Given the description of an element on the screen output the (x, y) to click on. 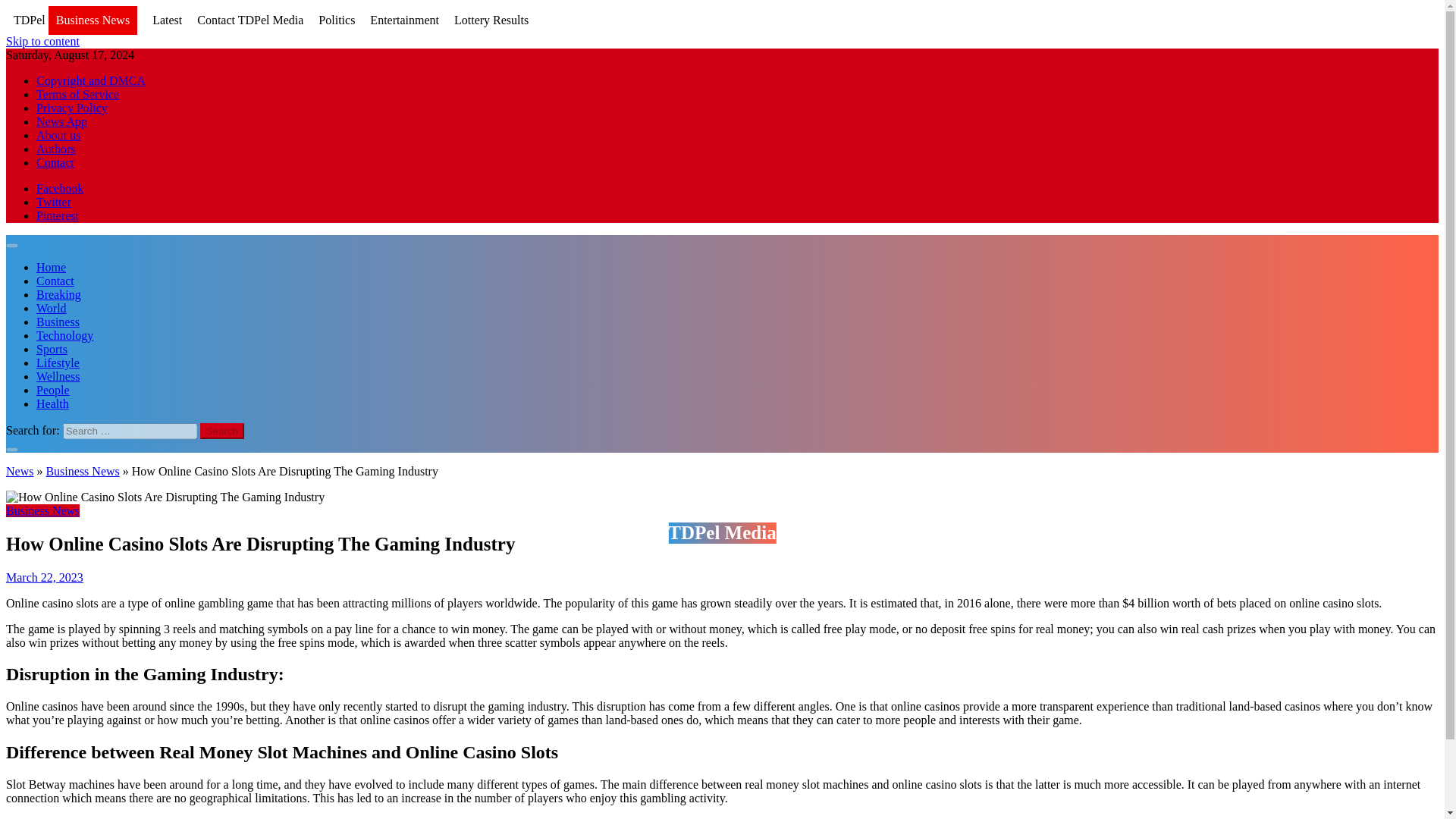
Privacy Policy (71, 107)
Skip to content (42, 41)
Politics (336, 19)
Pinterest (57, 215)
About us (58, 134)
Copyright and DMCA (90, 80)
Terms of Service (77, 93)
Business (58, 321)
Business News (92, 20)
Latest (167, 19)
